Given the description of an element on the screen output the (x, y) to click on. 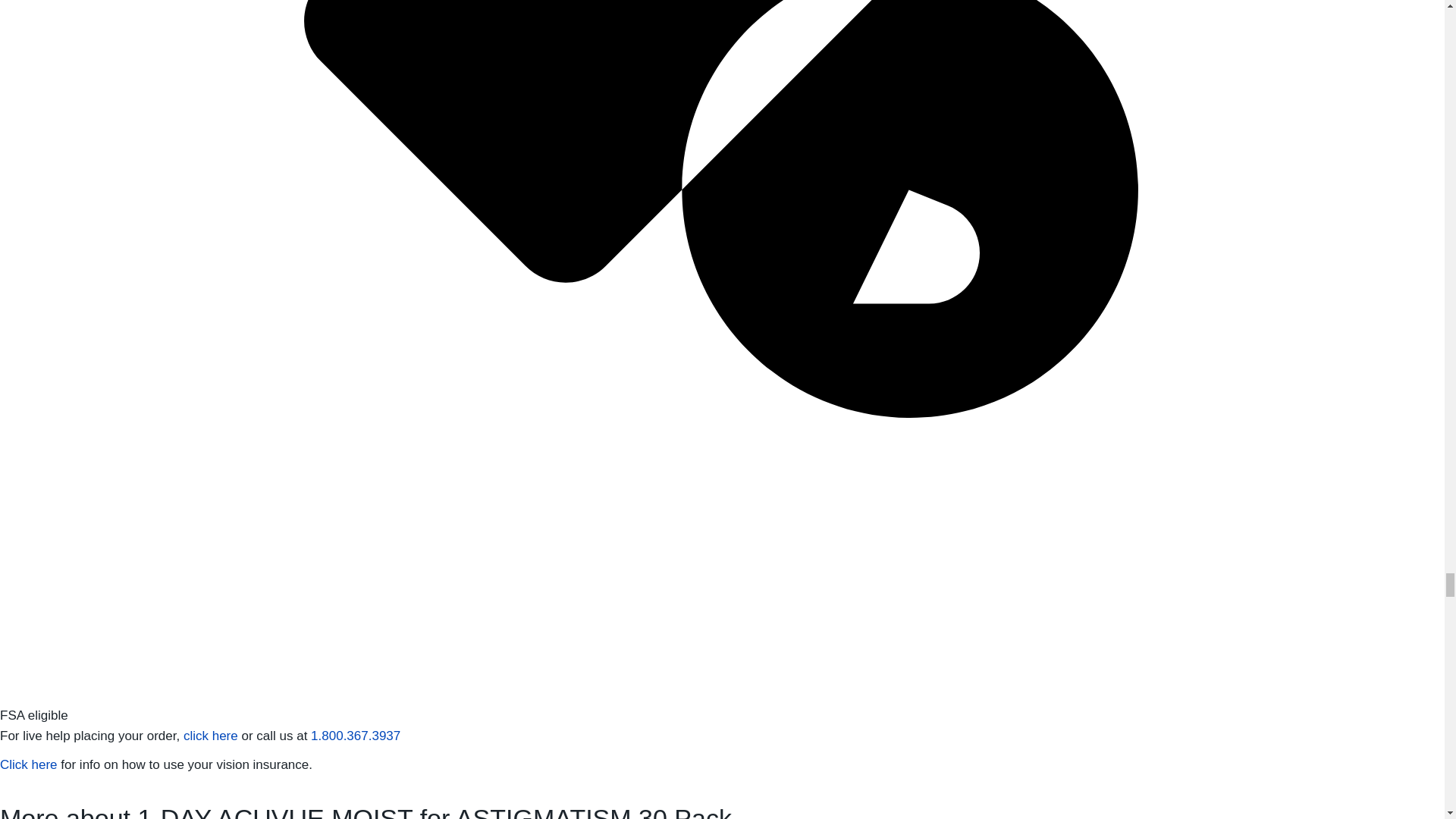
Insurance Benefits Page (30, 764)
